Given the description of an element on the screen output the (x, y) to click on. 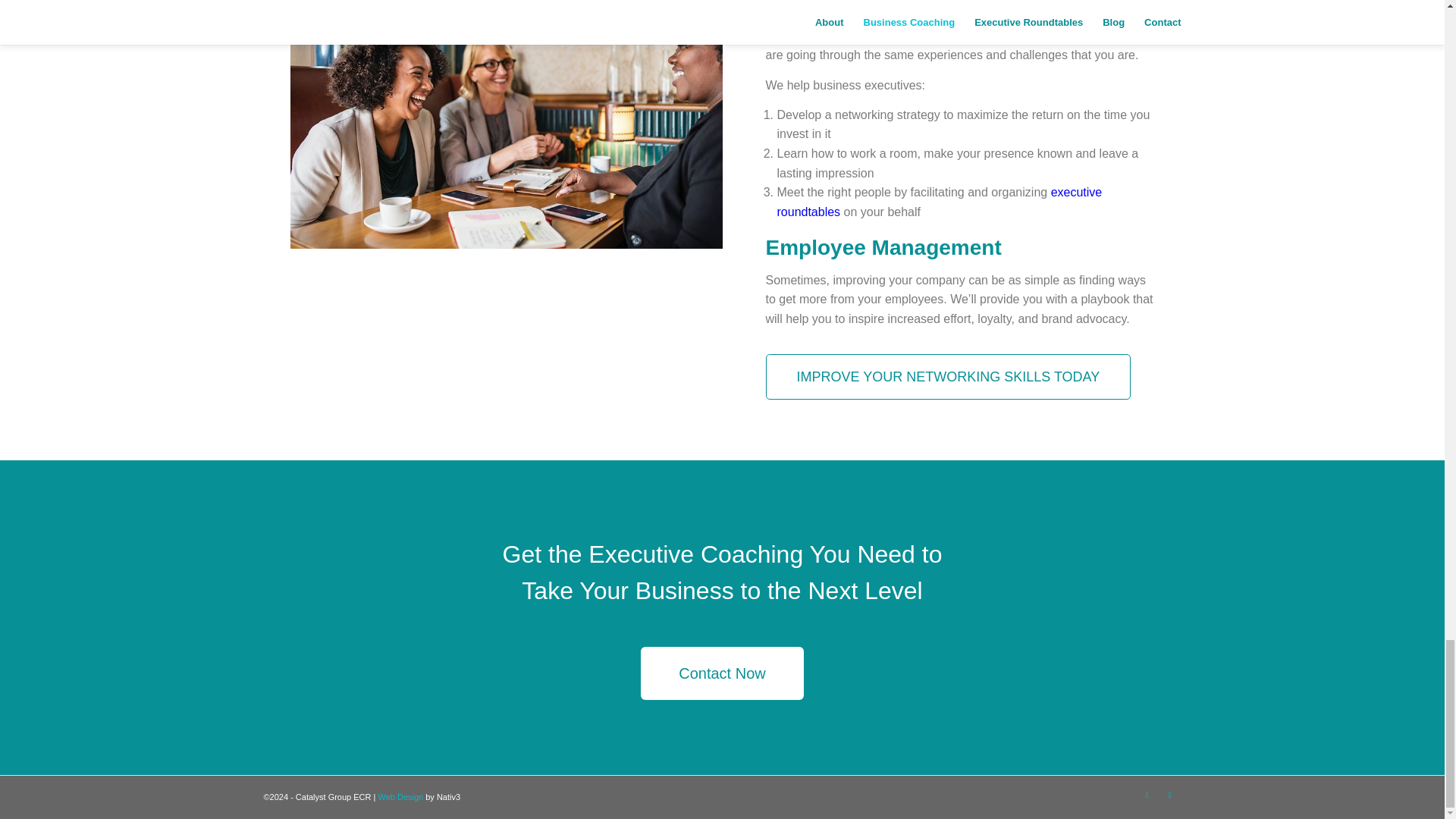
Facebook (1146, 793)
Linkedin (1169, 793)
Web Design (400, 796)
IMPROVE YOUR NETWORKING SKILLS TODAY (948, 376)
Contact Now (721, 673)
executive roundtables (939, 201)
